Given the description of an element on the screen output the (x, y) to click on. 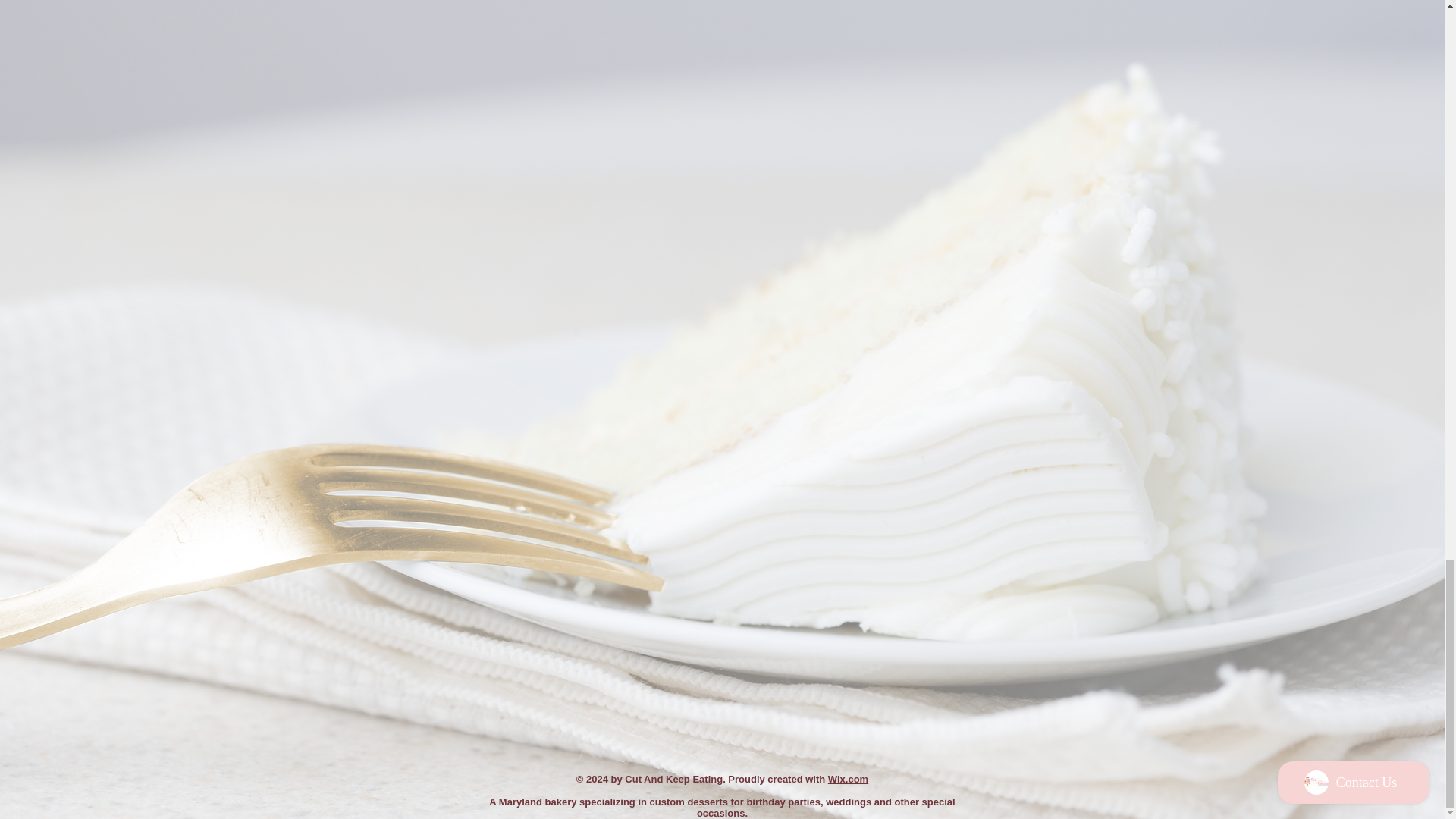
Wix.com (847, 778)
